Given the description of an element on the screen output the (x, y) to click on. 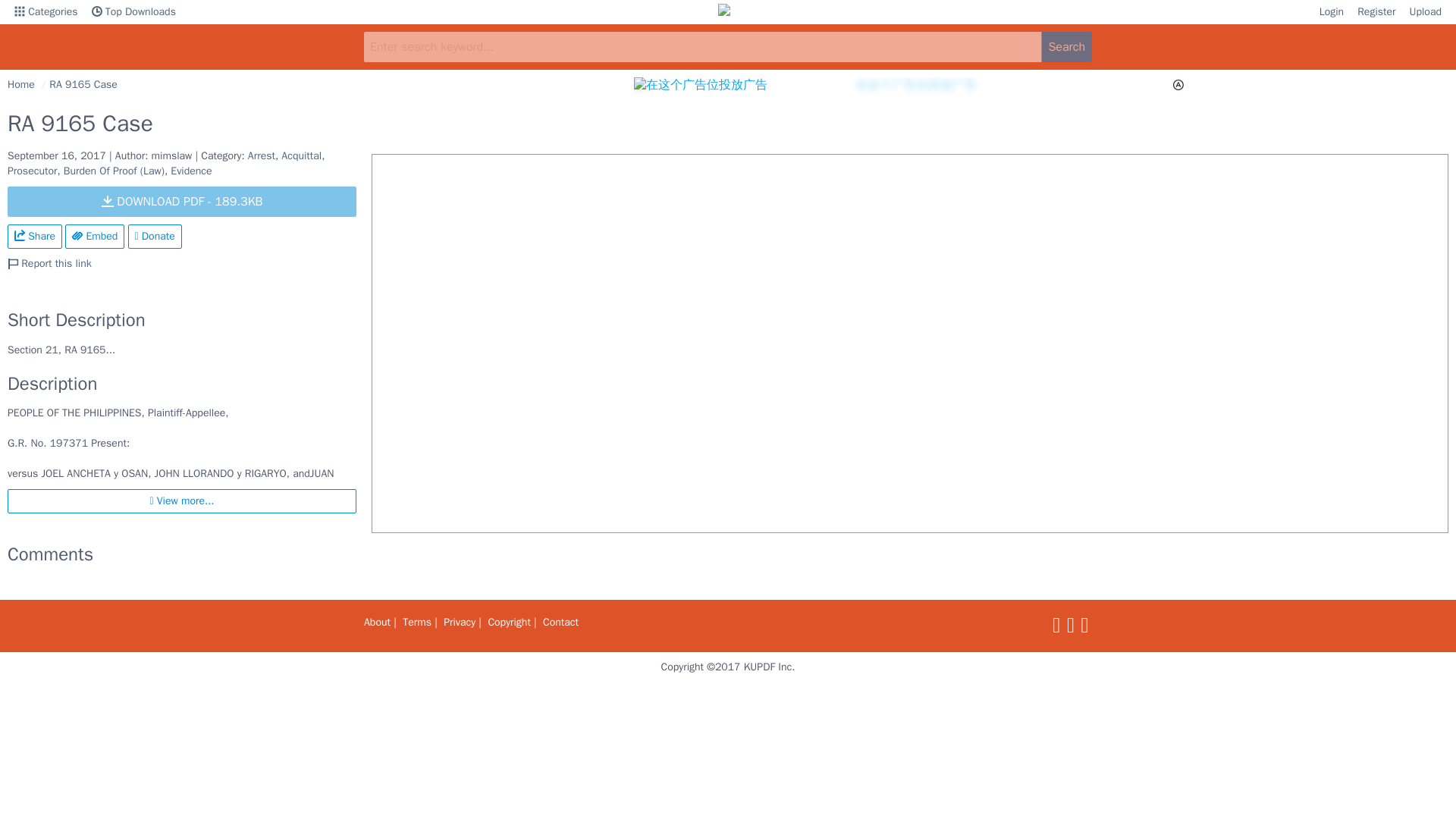
Login (1332, 12)
Categories (45, 12)
Evidence (190, 170)
Report this link (49, 263)
Privacy (460, 621)
Copyright (508, 621)
Arrest (261, 155)
Upload (1425, 12)
RA 9165 Case (83, 83)
Prosecutor (31, 170)
Acquittal (301, 155)
Contact (560, 621)
Share (34, 236)
DOWNLOAD PDF - 189.3KB (181, 201)
Terms (416, 621)
